Given the description of an element on the screen output the (x, y) to click on. 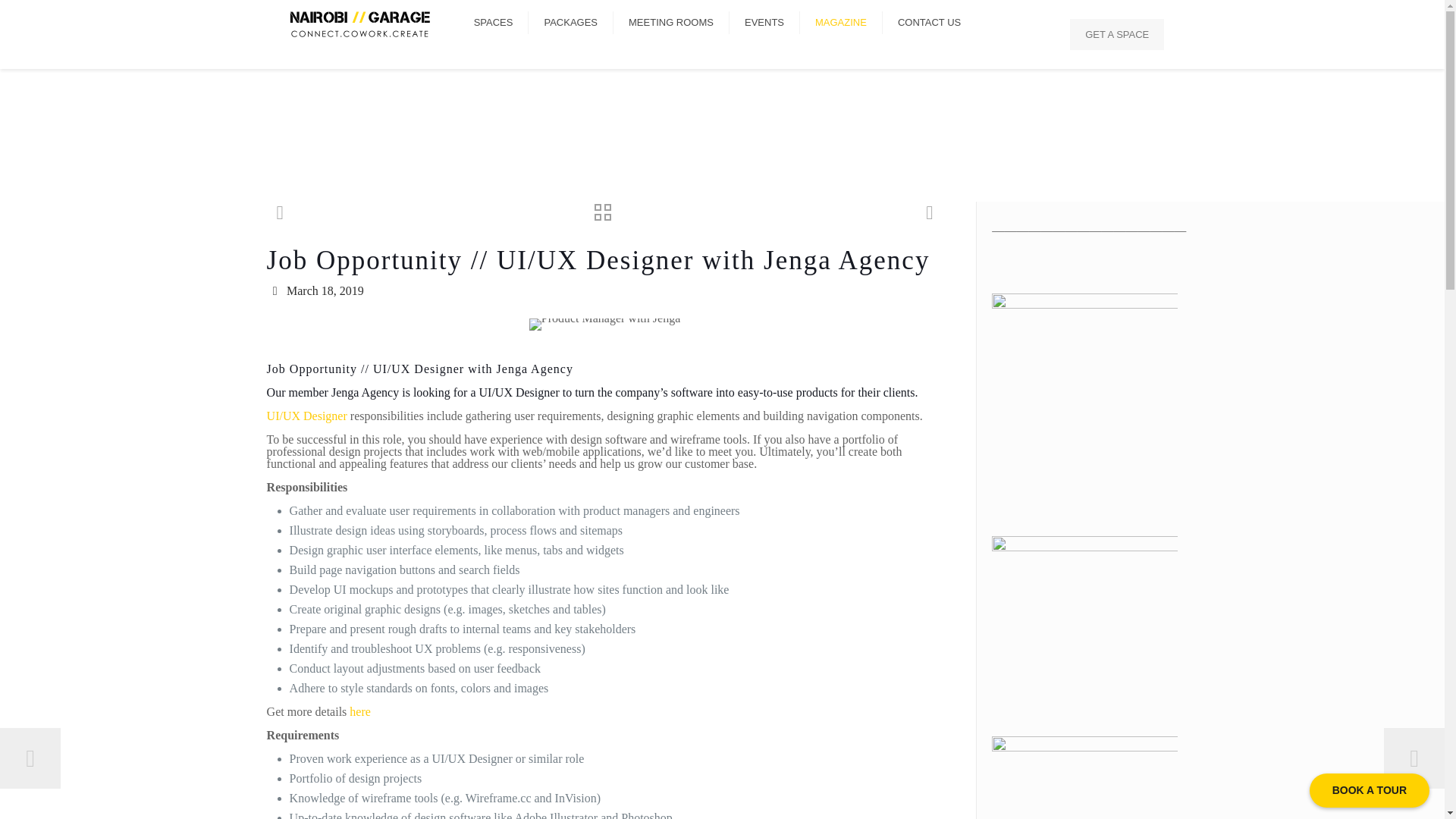
EVENTS (764, 22)
CONTACT US (928, 22)
MEETING ROOMS (670, 22)
GET A SPACE (1116, 33)
Nairobi Garage (359, 22)
MAGAZINE (840, 22)
PACKAGES (570, 22)
here (360, 711)
SPACES (493, 22)
